Given the description of an element on the screen output the (x, y) to click on. 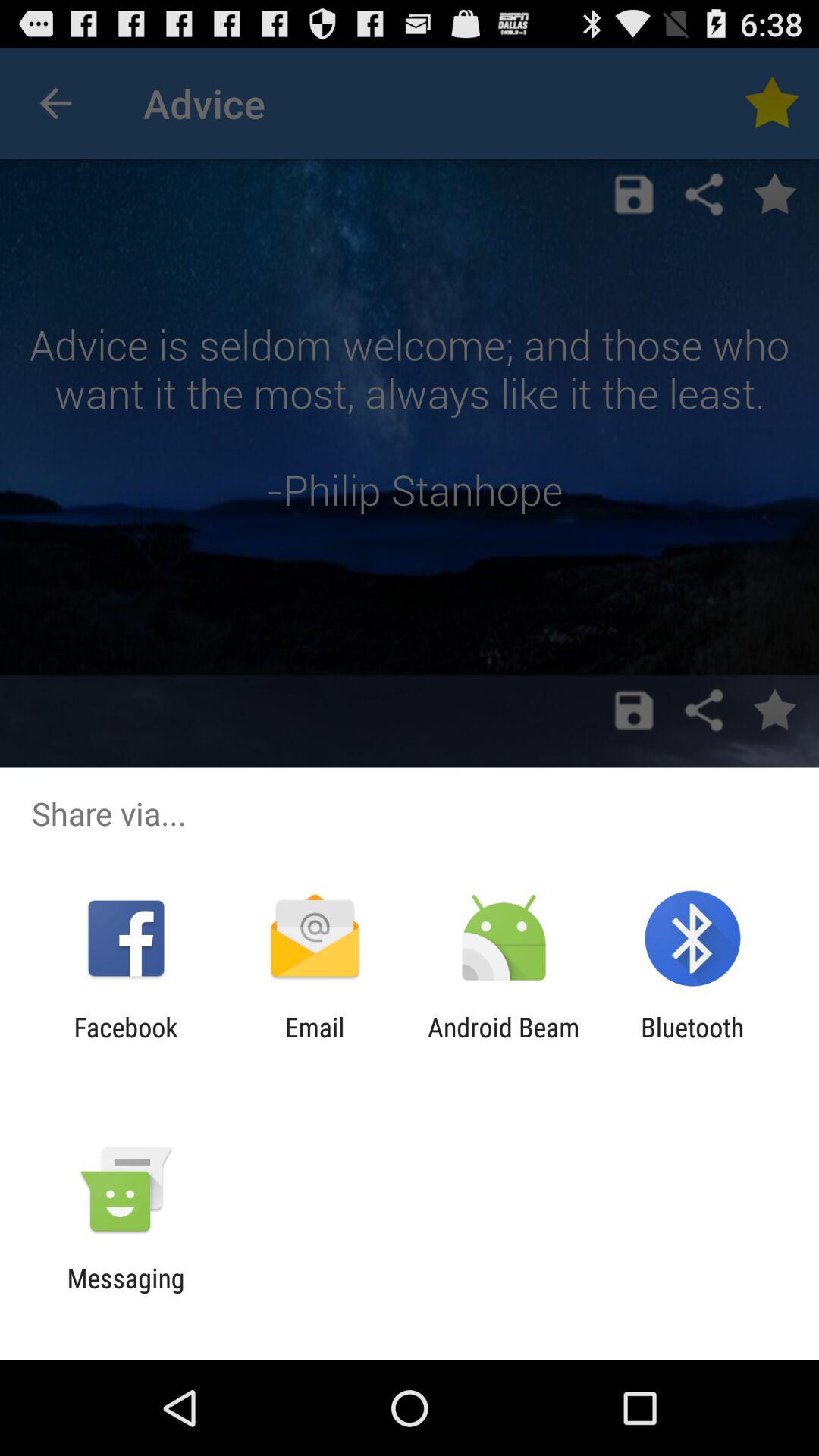
turn off the item next to the email app (125, 1042)
